Given the description of an element on the screen output the (x, y) to click on. 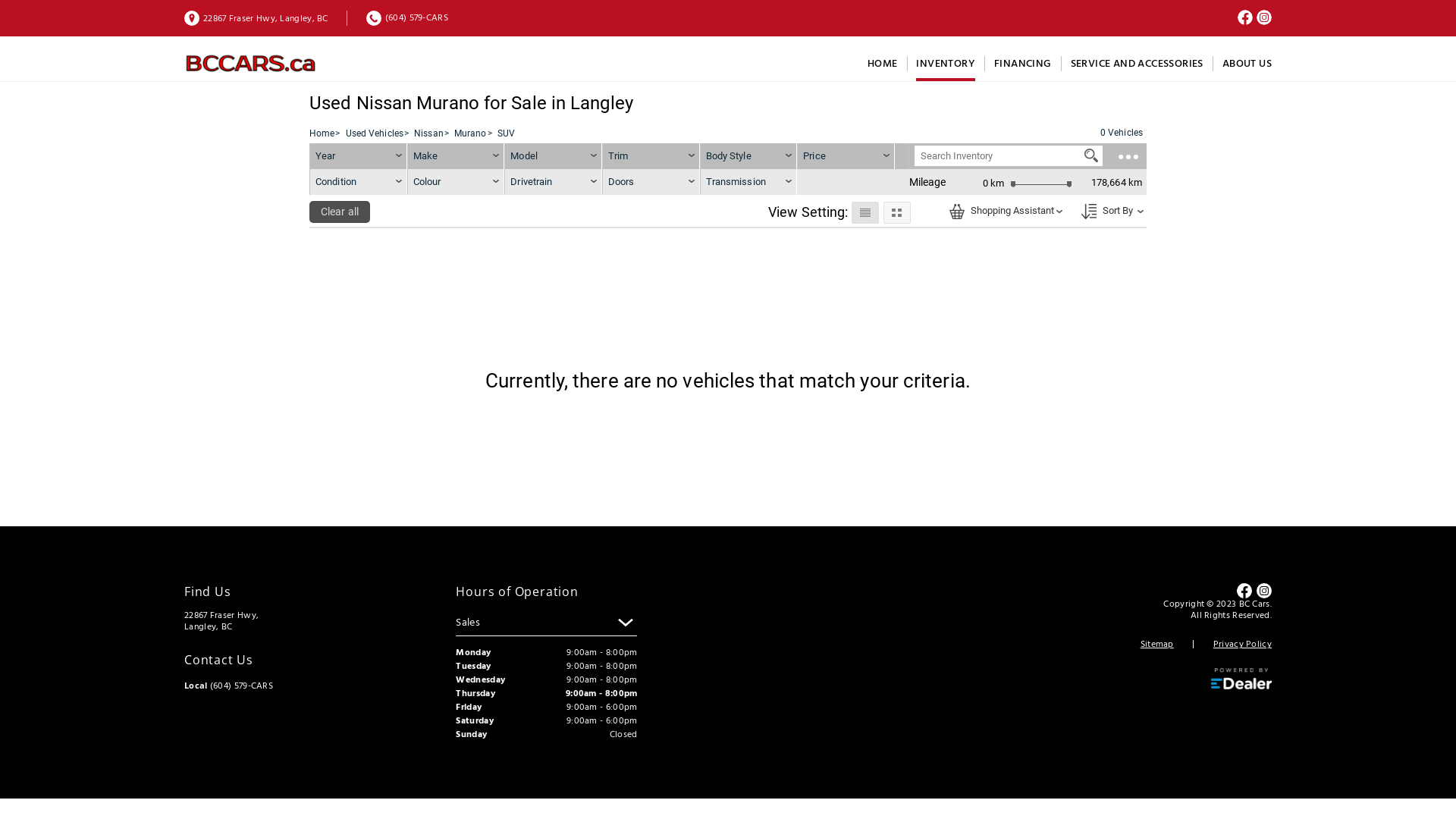
ABOUT US Element type: text (1246, 63)
https://www.instagram.com/bccars.ca/ Element type: text (1263, 20)
Transmission Element type: text (748, 181)
(604) 579-CARS Element type: text (407, 17)
Year Element type: text (358, 156)
Price Element type: text (814, 155)
Sort By Element type: text (1108, 209)
Powered by EDealer Element type: hover (1241, 678)
SERVICE AND ACCESSORIES Element type: text (1136, 63)
Trim Element type: text (650, 156)
Used Vehicles Element type: text (374, 133)
Home Element type: text (321, 133)
Clear all Element type: text (339, 211)
Model Element type: text (553, 156)
Body Style Element type: text (748, 156)
Privacy Policy Element type: text (1242, 644)
Search Element type: hover (1090, 155)
Shopping Assistant Element type: hover (956, 211)
SUV Element type: text (505, 133)
Make Element type: text (455, 156)
Instagram Element type: hover (1263, 590)
Sitemap Element type: text (1156, 644)
Nissan Element type: text (428, 133)
Doors Element type: text (650, 181)
FINANCING Element type: text (1022, 63)
Condition Element type: text (358, 181)
Shopping Assistant Element type: text (1002, 209)
https://www.facebook.com/www.bccars.ca Element type: text (1244, 20)
22867 Fraser Hwy,
Langley, BC Element type: text (256, 17)
INVENTORY Element type: text (945, 63)
22867 Fraser Hwy,
Langley, BC Element type: text (221, 620)
Listing View Element type: hover (864, 211)
Sort By Element type: hover (1088, 211)
Facebook Element type: hover (1244, 590)
Grid View Element type: hover (896, 211)
HOME Element type: text (882, 63)
Local (604) 579-CARS Element type: text (228, 685)
Drivetrain Element type: text (553, 181)
Murano Element type: text (470, 133)
Colour Element type: text (455, 181)
